Given the description of an element on the screen output the (x, y) to click on. 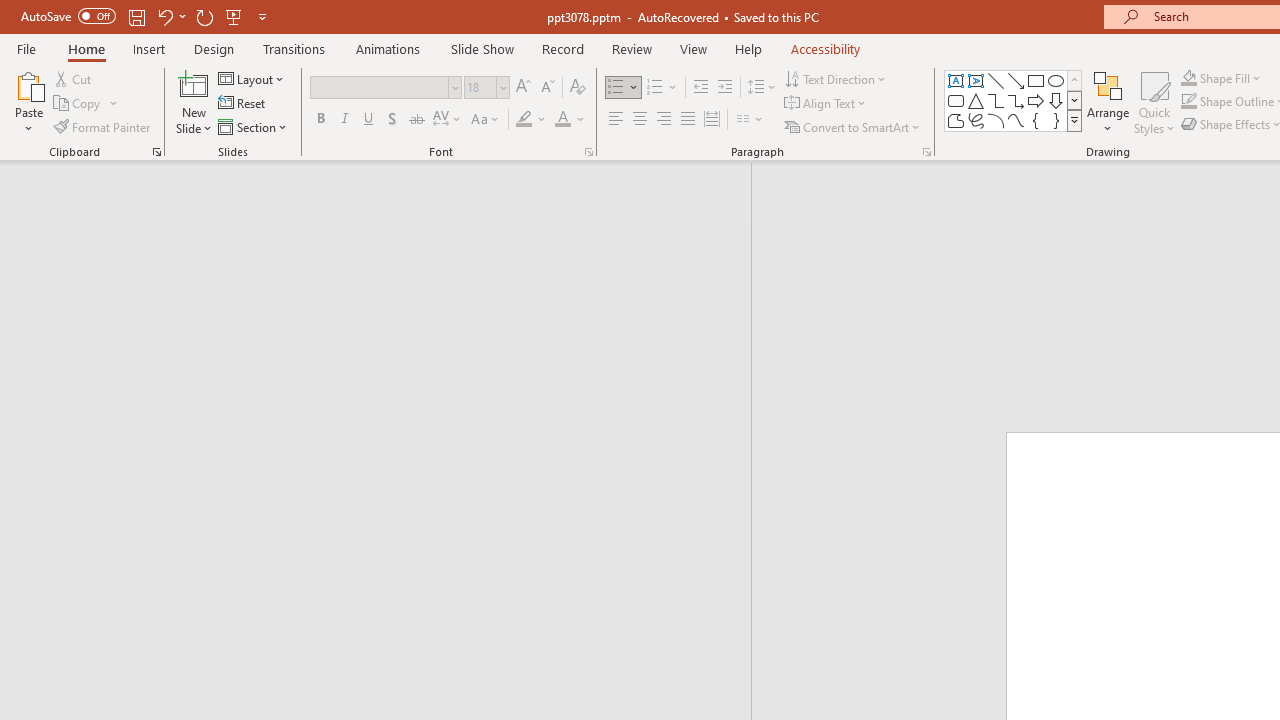
Font (385, 87)
Rectangle: Rounded Corners (955, 100)
Shape Fill (1221, 78)
Outline (384, 215)
Decrease Indent (700, 87)
Left Brace (1035, 120)
Paste (28, 84)
Reset (243, 103)
Font Color Red (562, 119)
Center (639, 119)
Numbering (661, 87)
